Given the description of an element on the screen output the (x, y) to click on. 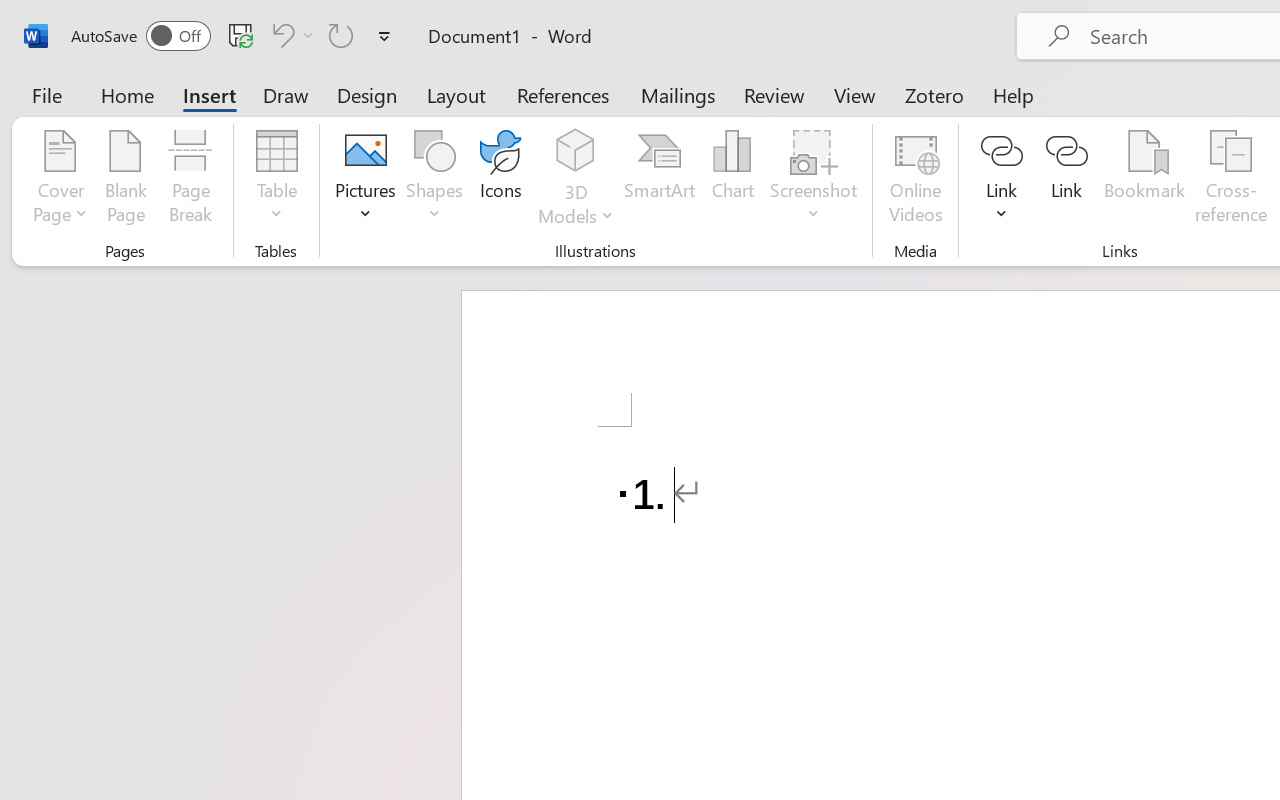
Link (1066, 179)
Undo Number Default (290, 35)
3D Models (576, 151)
Pictures (365, 179)
Cover Page (60, 179)
Page Break (190, 179)
Link (1001, 179)
Repeat Doc Close (341, 35)
Icons (500, 179)
